Given the description of an element on the screen output the (x, y) to click on. 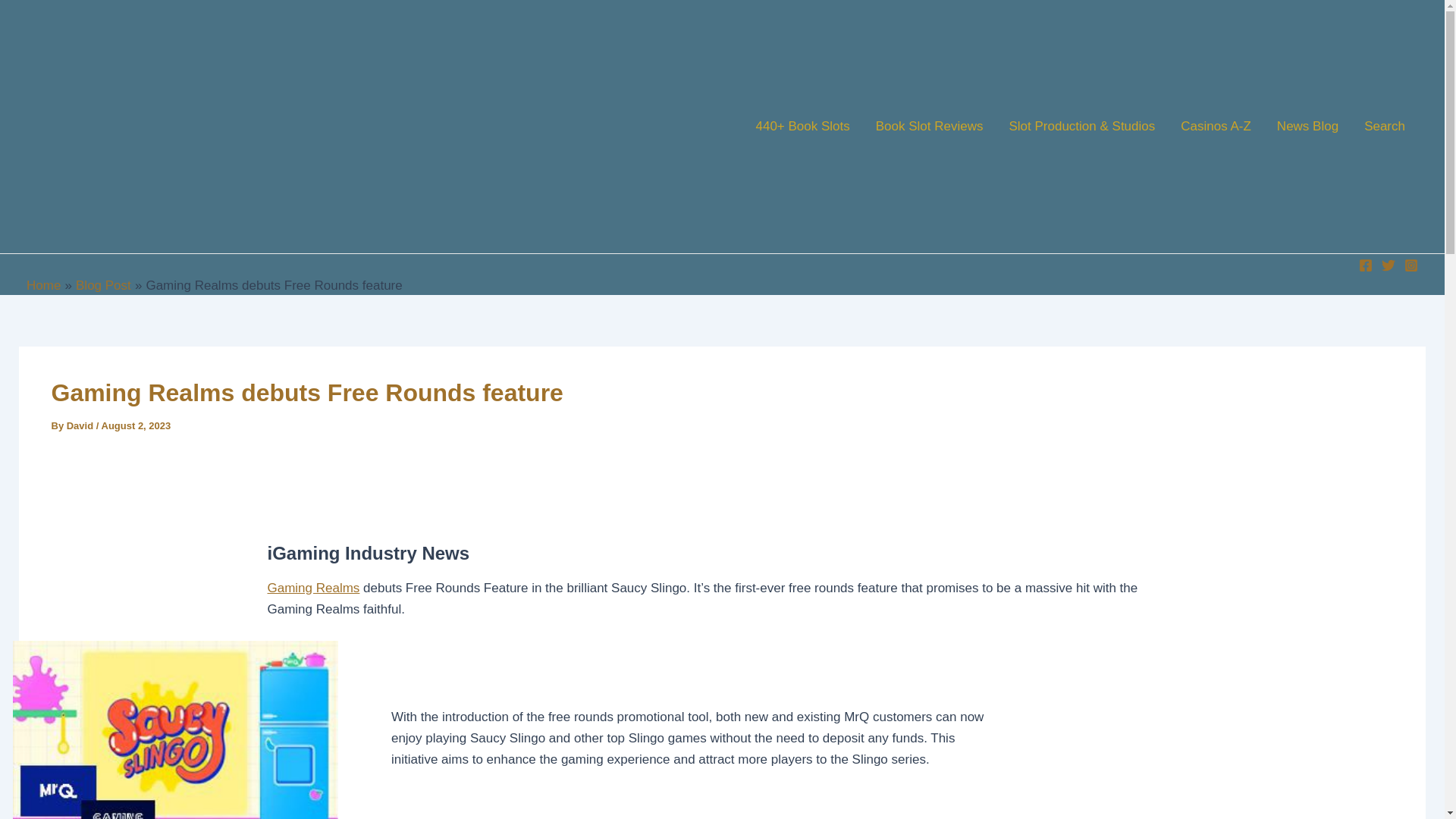
View all posts by David (81, 425)
Blog Post (103, 285)
Book Slot Reviews (929, 126)
News Blog (1307, 126)
Casinos A-Z (1215, 126)
Home (43, 285)
Gaming Realms (312, 587)
David (81, 425)
Search (1384, 126)
